Given the description of an element on the screen output the (x, y) to click on. 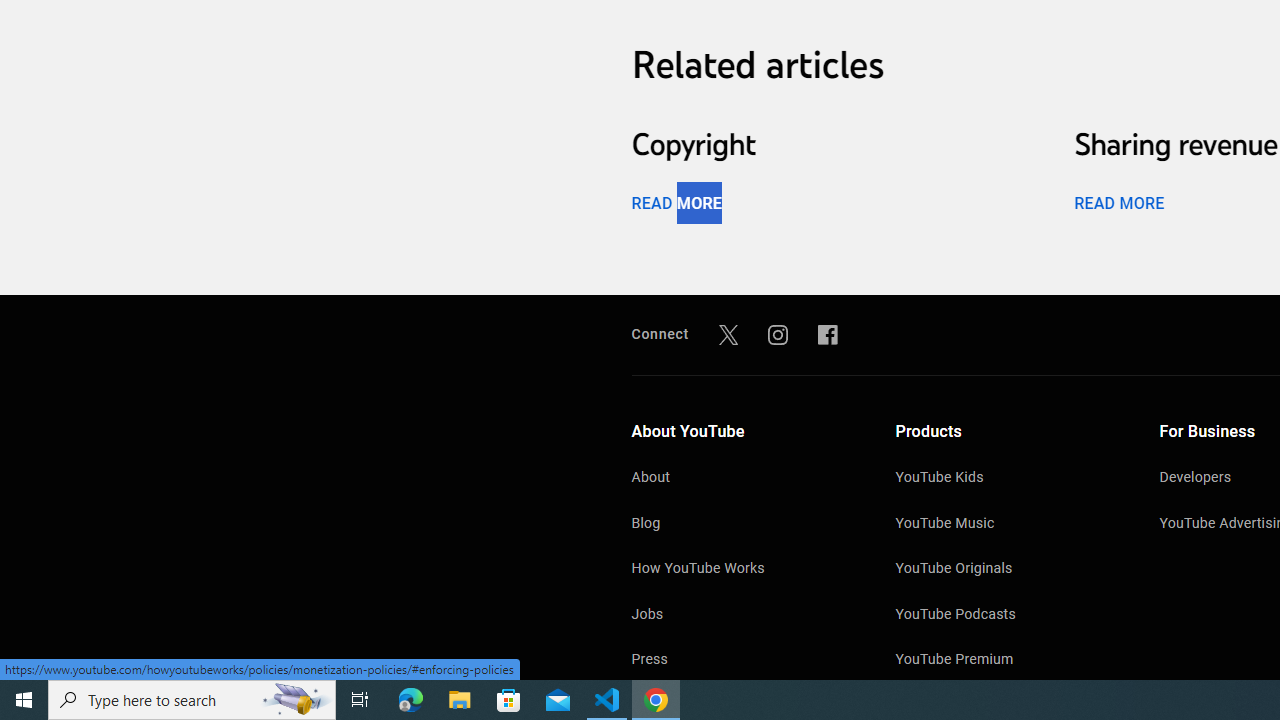
Blog (743, 524)
YouTube Premium (1007, 660)
YouTube Originals (1007, 570)
How YouTube Works (743, 570)
YouTube Music (1007, 524)
Twitter (728, 334)
YouTube Podcasts (1007, 616)
Instagram (778, 334)
READ MORE (1118, 202)
YouTube Kids (1007, 479)
Press (743, 660)
Facebook (828, 334)
